Given the description of an element on the screen output the (x, y) to click on. 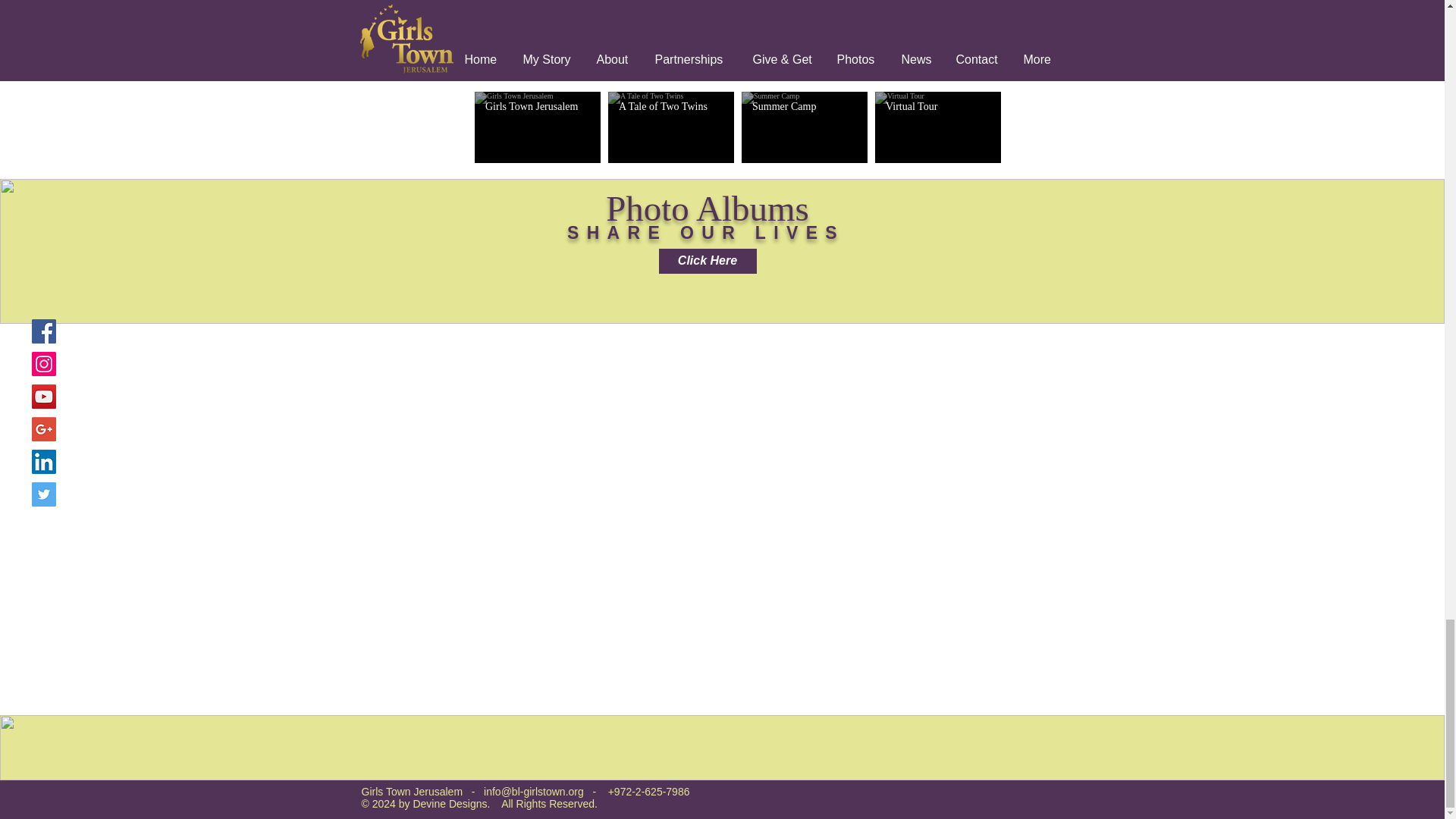
A Tale of Two Twins (670, 106)
Girls Town Jerusalem (536, 106)
Virtual Tour (937, 106)
Summer Camp (804, 106)
